Given the description of an element on the screen output the (x, y) to click on. 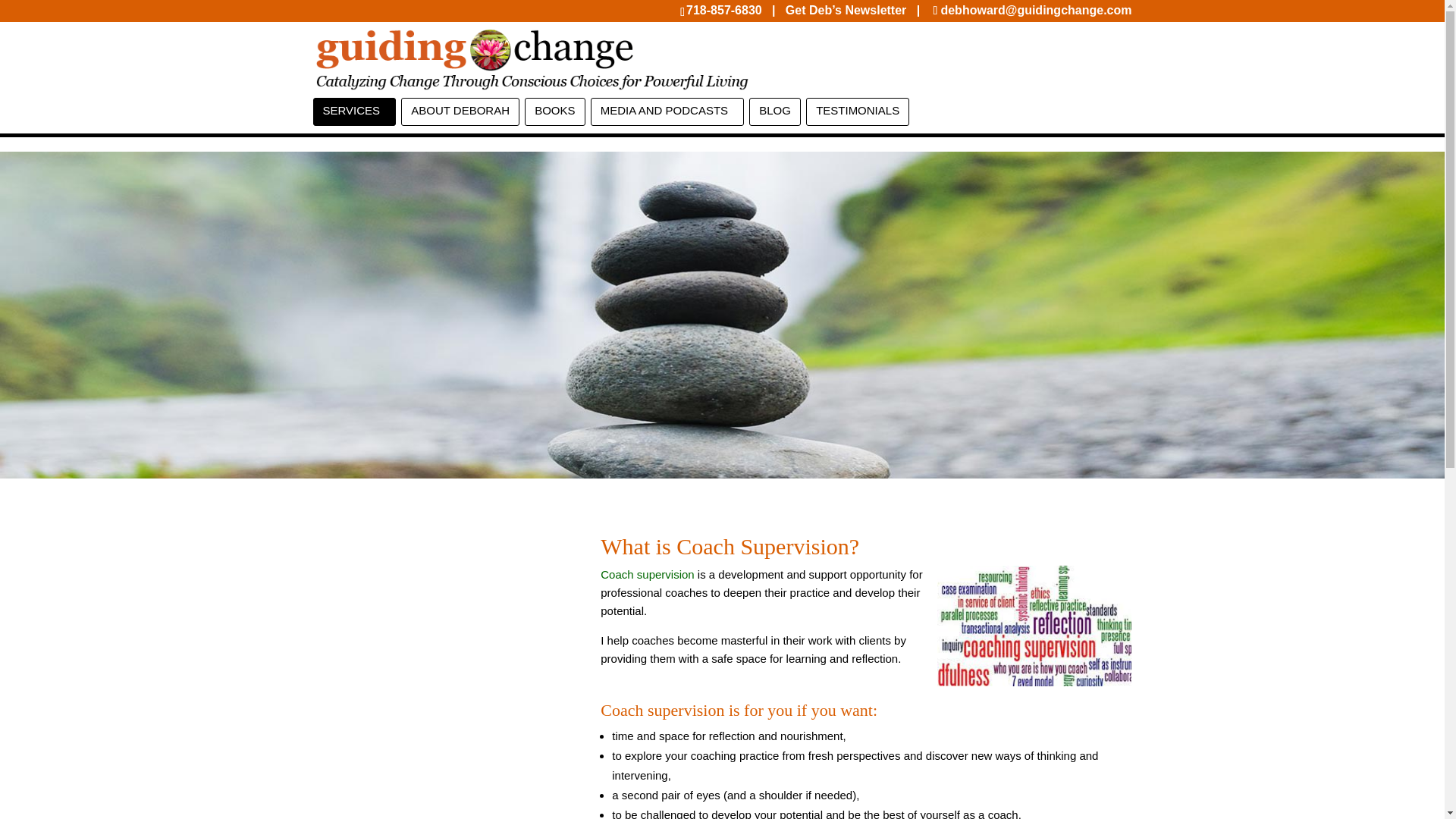
Coach supervision (646, 574)
BLOG (774, 111)
TESTIMONIALS (857, 111)
ABOUT DEBORAH (460, 111)
MEDIA AND PODCASTS (667, 111)
BOOKS (554, 111)
SERVICES (354, 111)
